Given the description of an element on the screen output the (x, y) to click on. 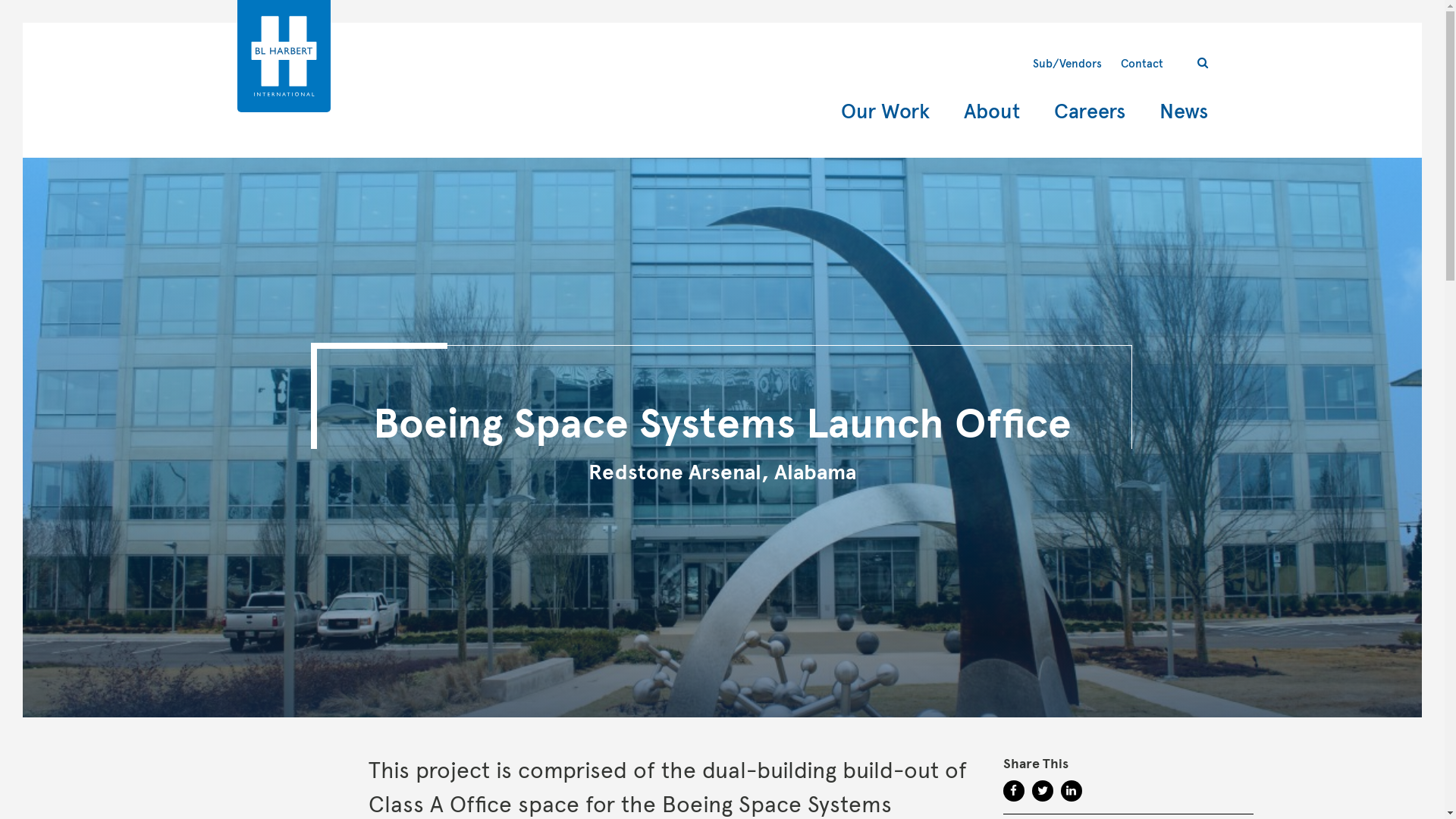
About (990, 111)
News (1182, 111)
Boeing Space Systems Launch Office (721, 423)
Contact (1142, 63)
Careers (1089, 111)
Our Work (884, 111)
